Given the description of an element on the screen output the (x, y) to click on. 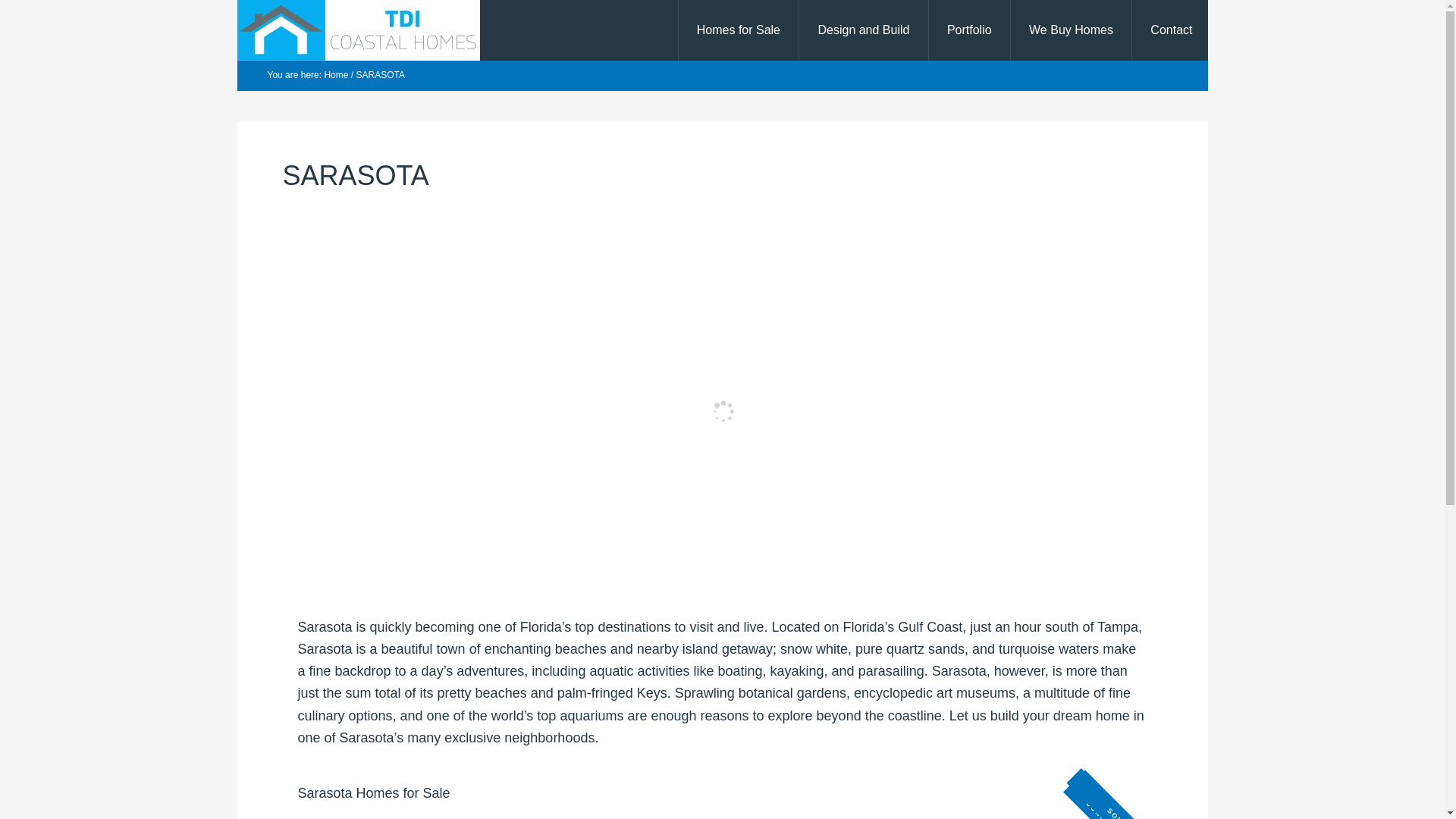
We Buy Homes (1070, 30)
TDI Coastal Homes (357, 30)
Home (335, 74)
Portfolio (969, 30)
Contact (1170, 30)
Design and Build (862, 30)
Homes for Sale (737, 30)
